Given the description of an element on the screen output the (x, y) to click on. 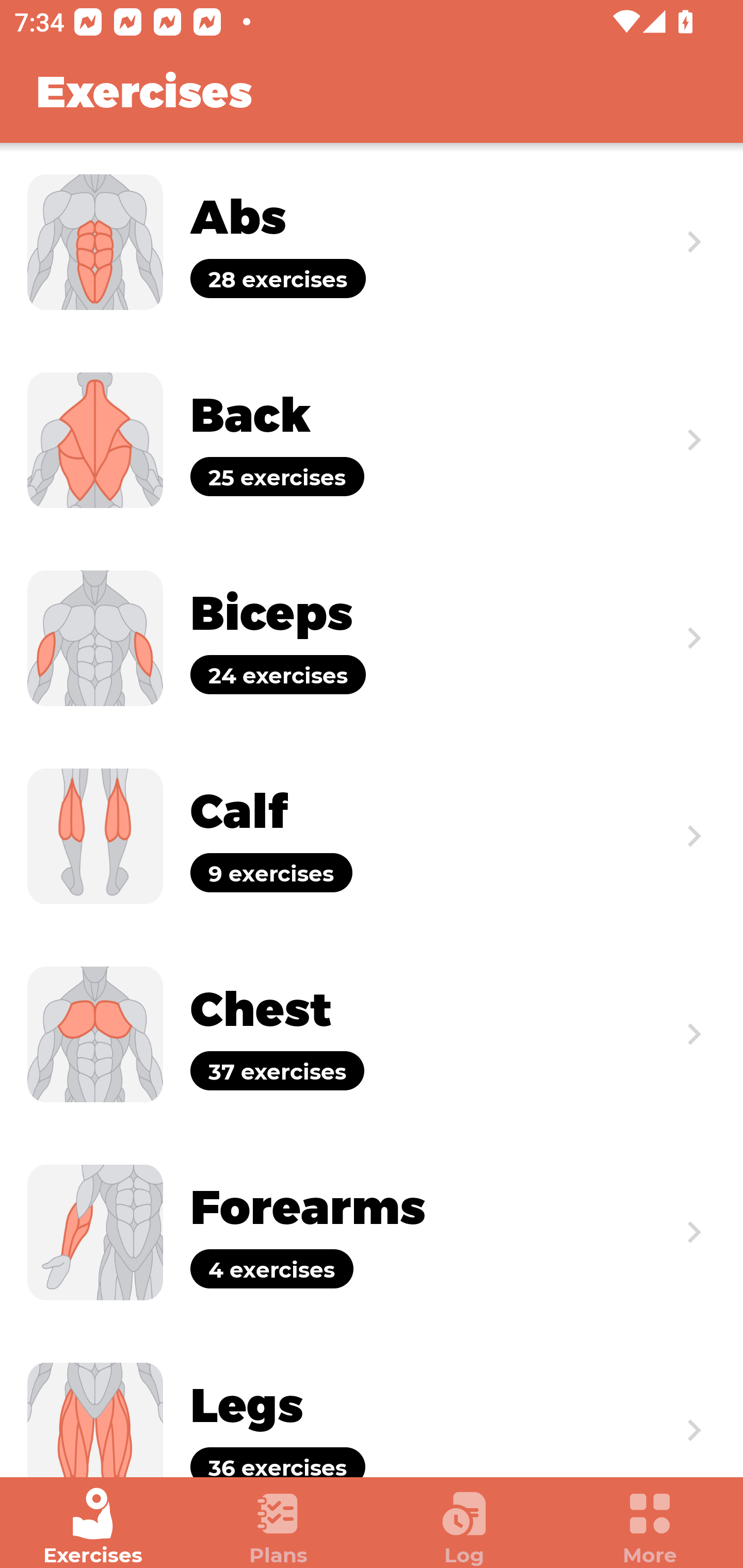
Exercise Abs 28 exercises (371, 241)
Exercise Back 25 exercises (371, 439)
Exercise Biceps 24 exercises (371, 637)
Exercise Calf 9 exercises (371, 836)
Exercise Chest 37 exercises (371, 1033)
Exercise Forearms 4 exercises (371, 1232)
Exercise Legs 36 exercises (371, 1404)
Exercises (92, 1527)
Plans (278, 1527)
Log (464, 1527)
More (650, 1527)
